Given the description of an element on the screen output the (x, y) to click on. 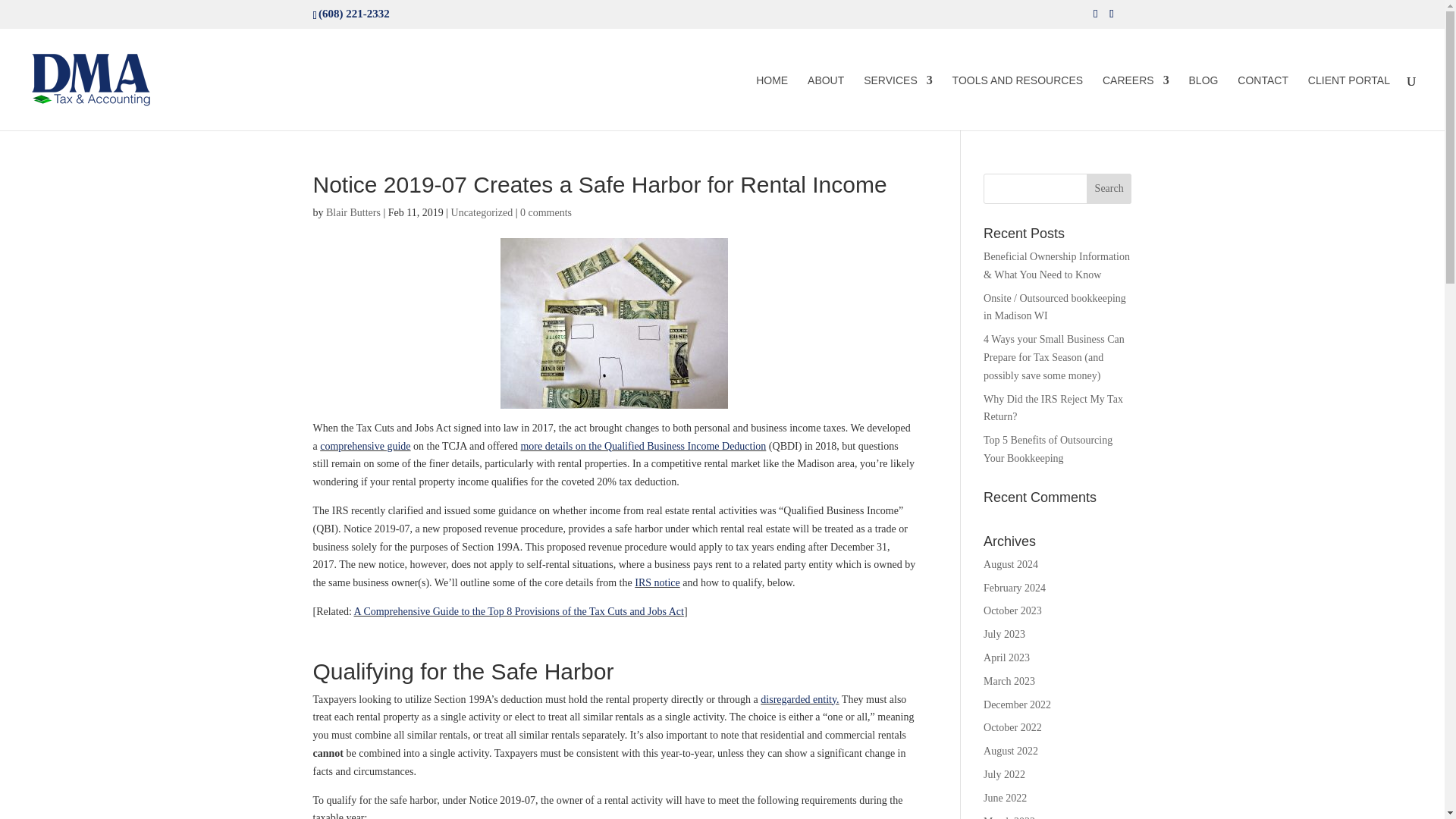
Uncategorized (482, 212)
Blair Butters (353, 212)
Search (1109, 188)
more details on the Qualified Business Income Deduction (642, 446)
CLIENT PORTAL (1348, 101)
0 comments (545, 212)
CAREERS (1135, 101)
Posts by Blair Butters (353, 212)
SERVICES (898, 101)
TOOLS AND RESOURCES (1017, 101)
